Given the description of an element on the screen output the (x, y) to click on. 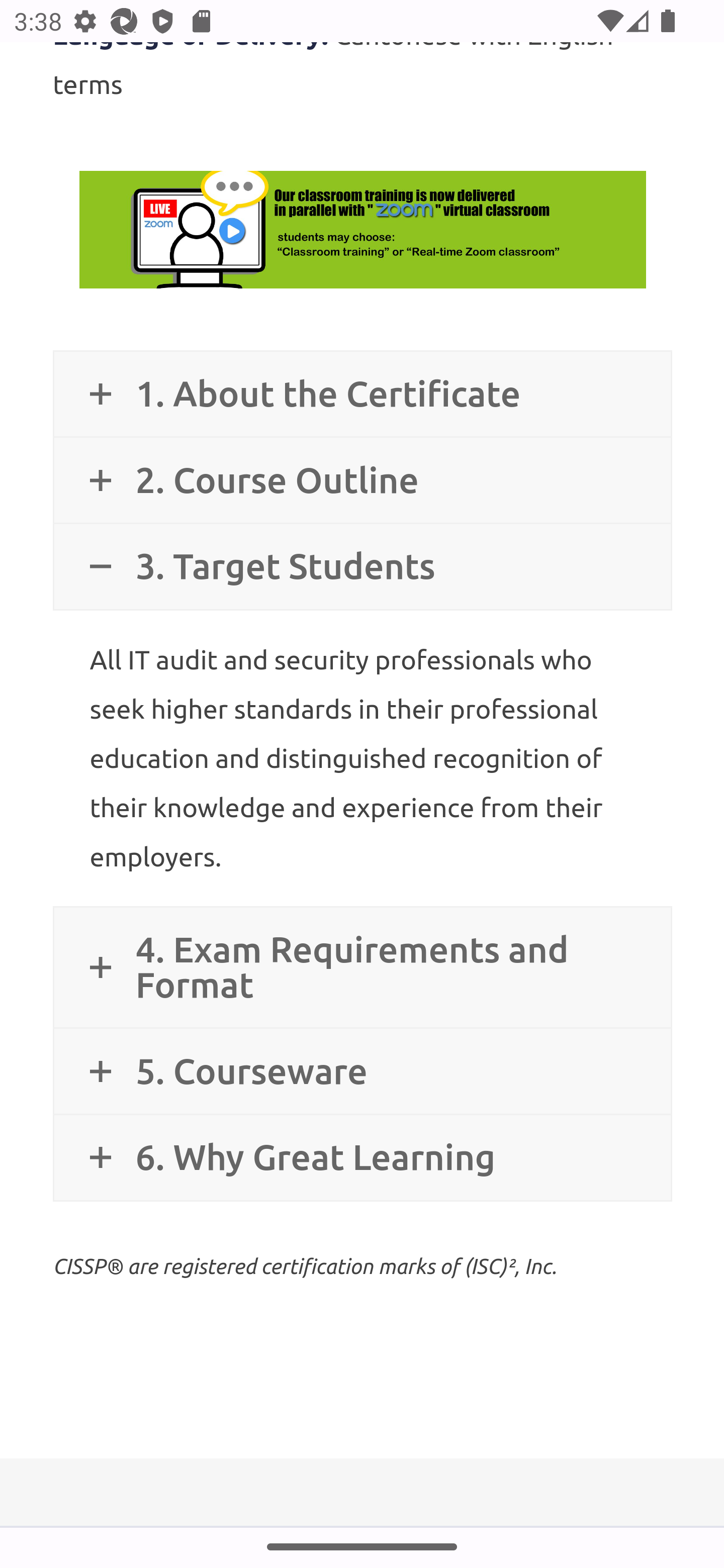
5. Courseware 5. Courseware 5. Courseware (361, 1071)
